Given the description of an element on the screen output the (x, y) to click on. 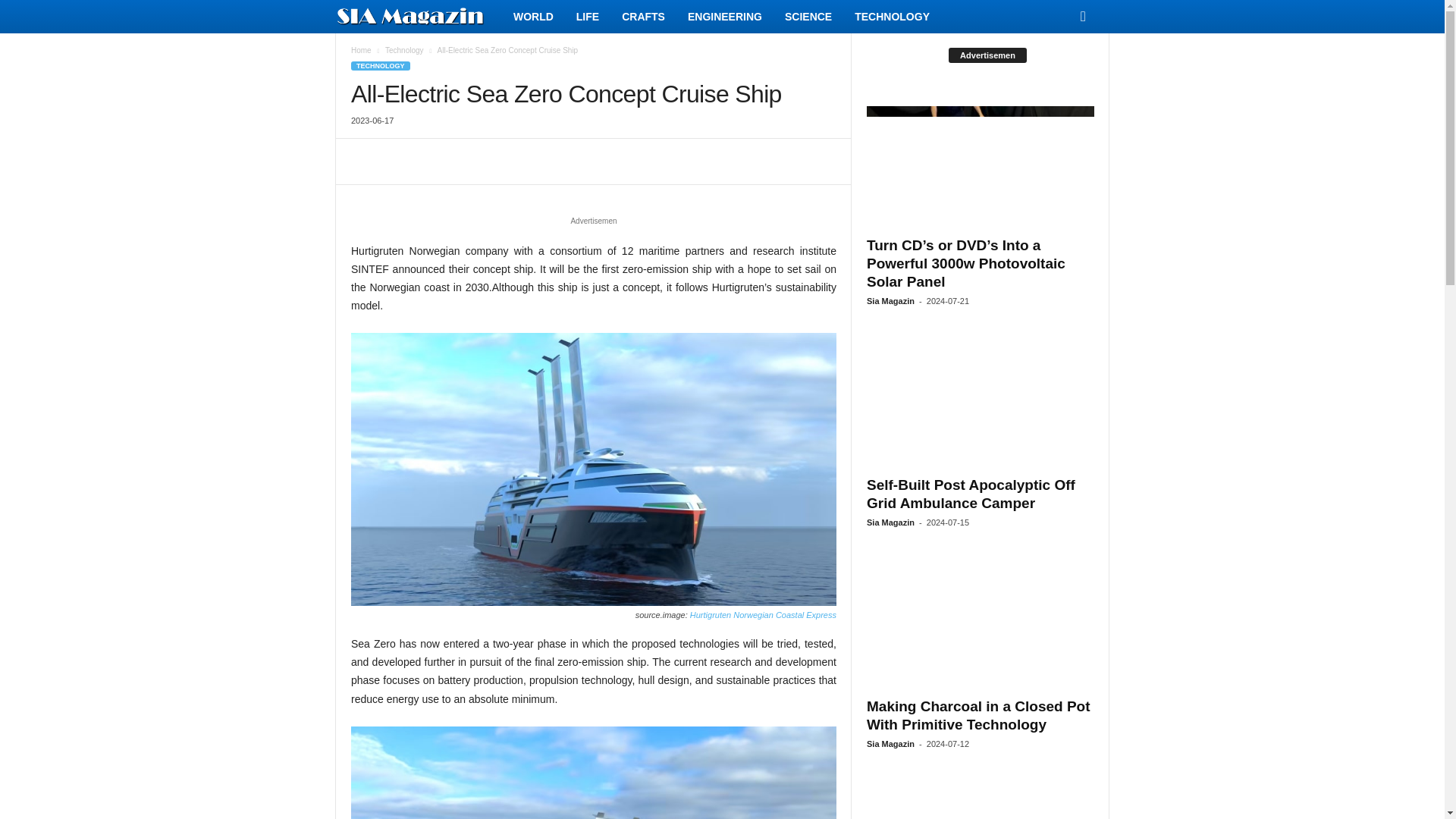
View all posts in Technology (404, 49)
WORLD (533, 16)
TECHNOLOGY (891, 16)
ENGINEERING (725, 16)
Hurtigruten Norwegian Coastal Express (761, 614)
Home (360, 49)
Sia Magazin (418, 16)
SCIENCE (808, 16)
LIFE (587, 16)
TECHNOLOGY (380, 65)
